Given the description of an element on the screen output the (x, y) to click on. 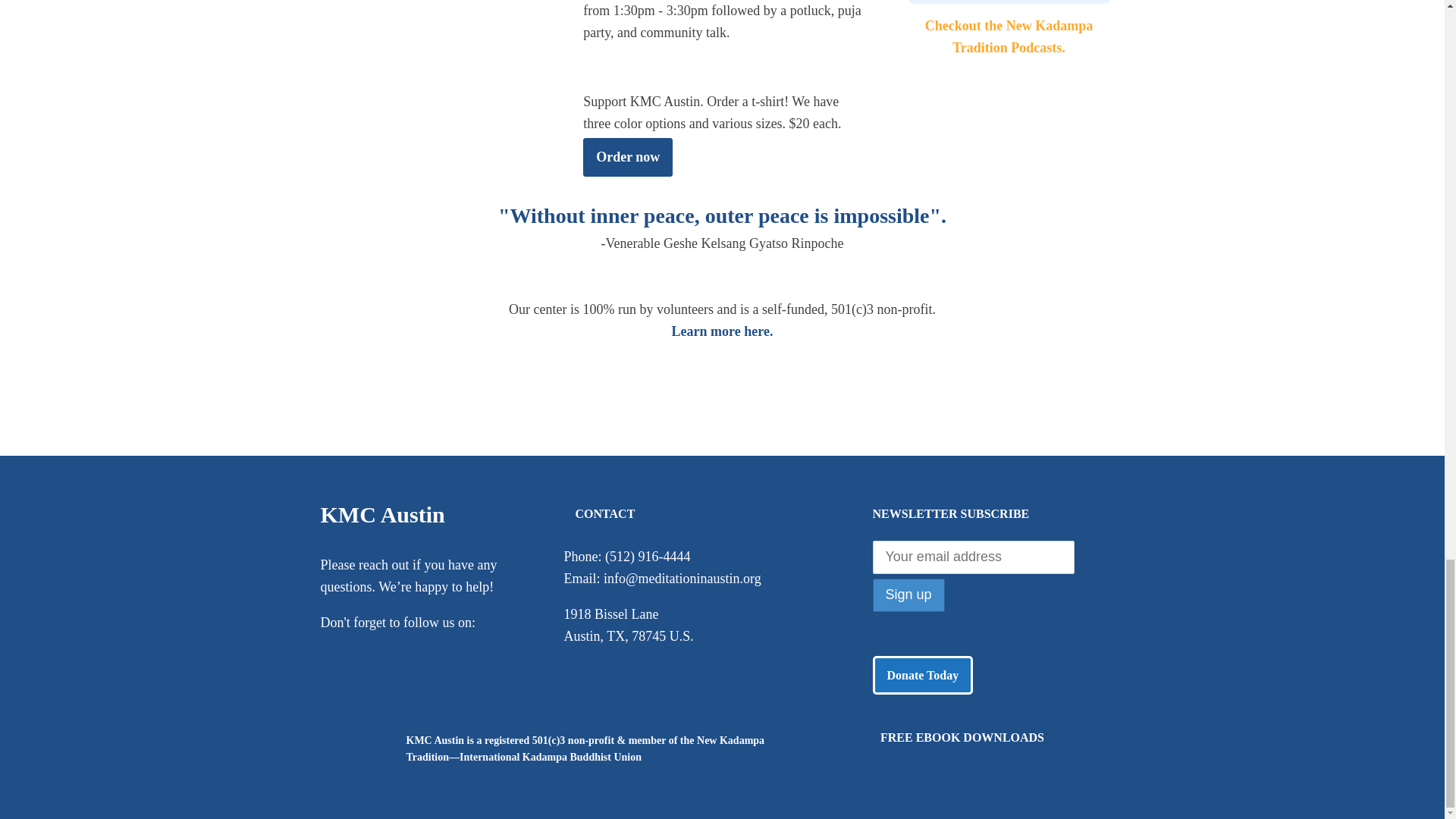
Sign up (907, 594)
